Given the description of an element on the screen output the (x, y) to click on. 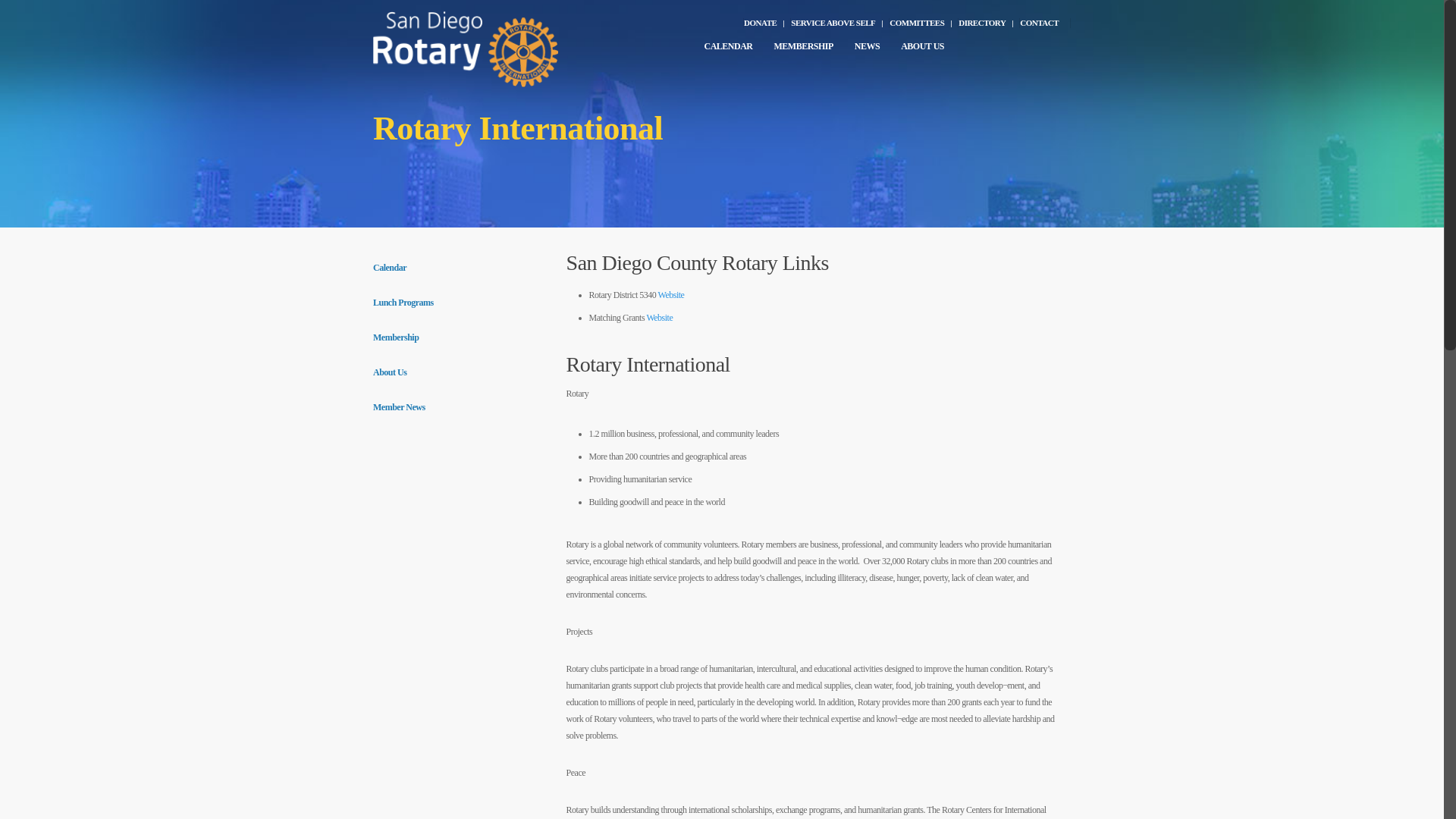
NEWS (869, 51)
CALENDAR (729, 51)
SERVICE ABOVE SELF (838, 22)
MEMBERSHIP (804, 51)
COMMITTEES (922, 22)
DONATE (765, 22)
DIRECTORY (987, 22)
Rotary District Web site (671, 294)
Matching Grants (659, 317)
ABOUT US (924, 51)
CONTACT (1043, 22)
